Given the description of an element on the screen output the (x, y) to click on. 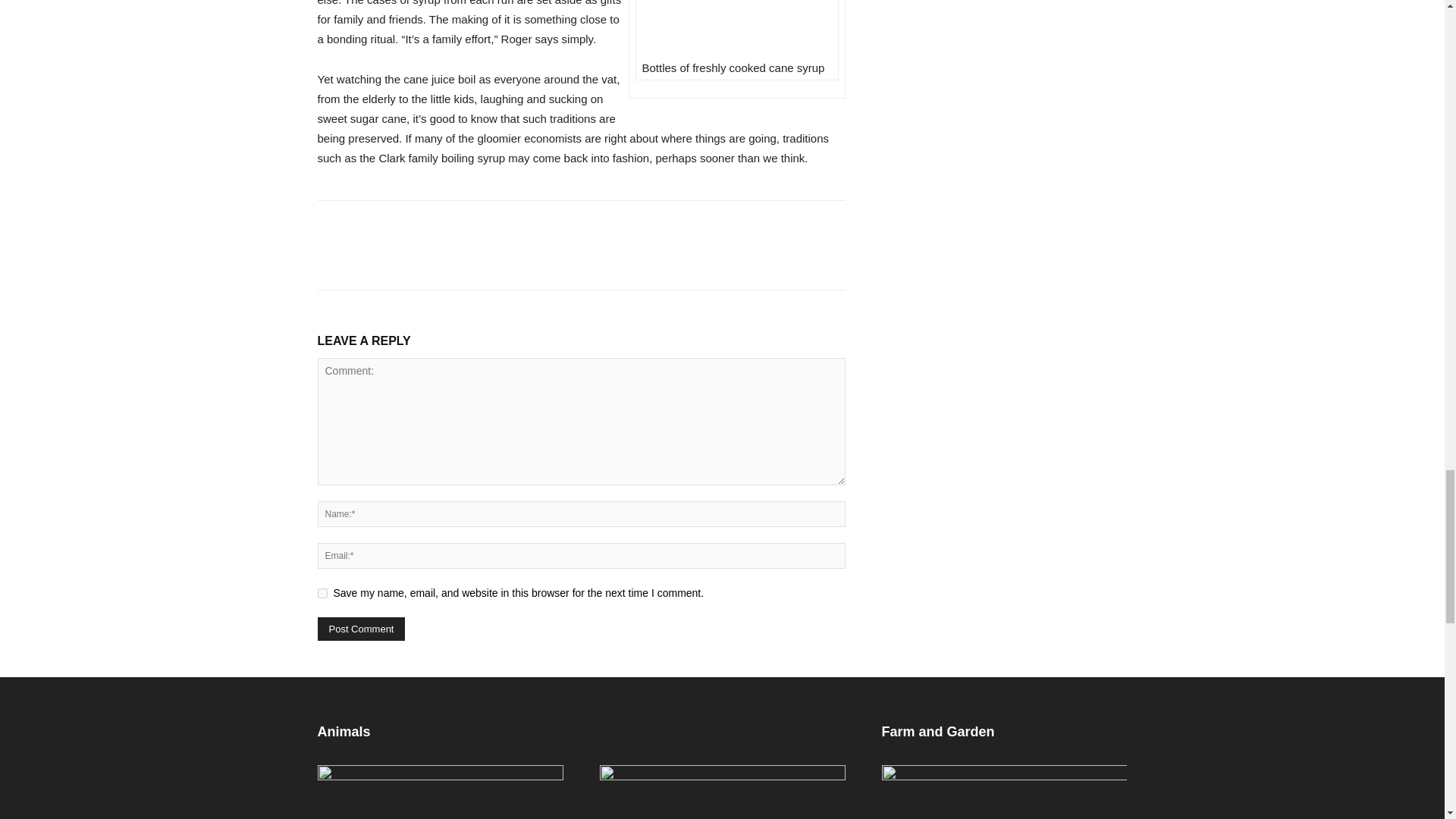
yes (321, 593)
bottomFacebookLike (430, 224)
Post Comment (360, 628)
